Given the description of an element on the screen output the (x, y) to click on. 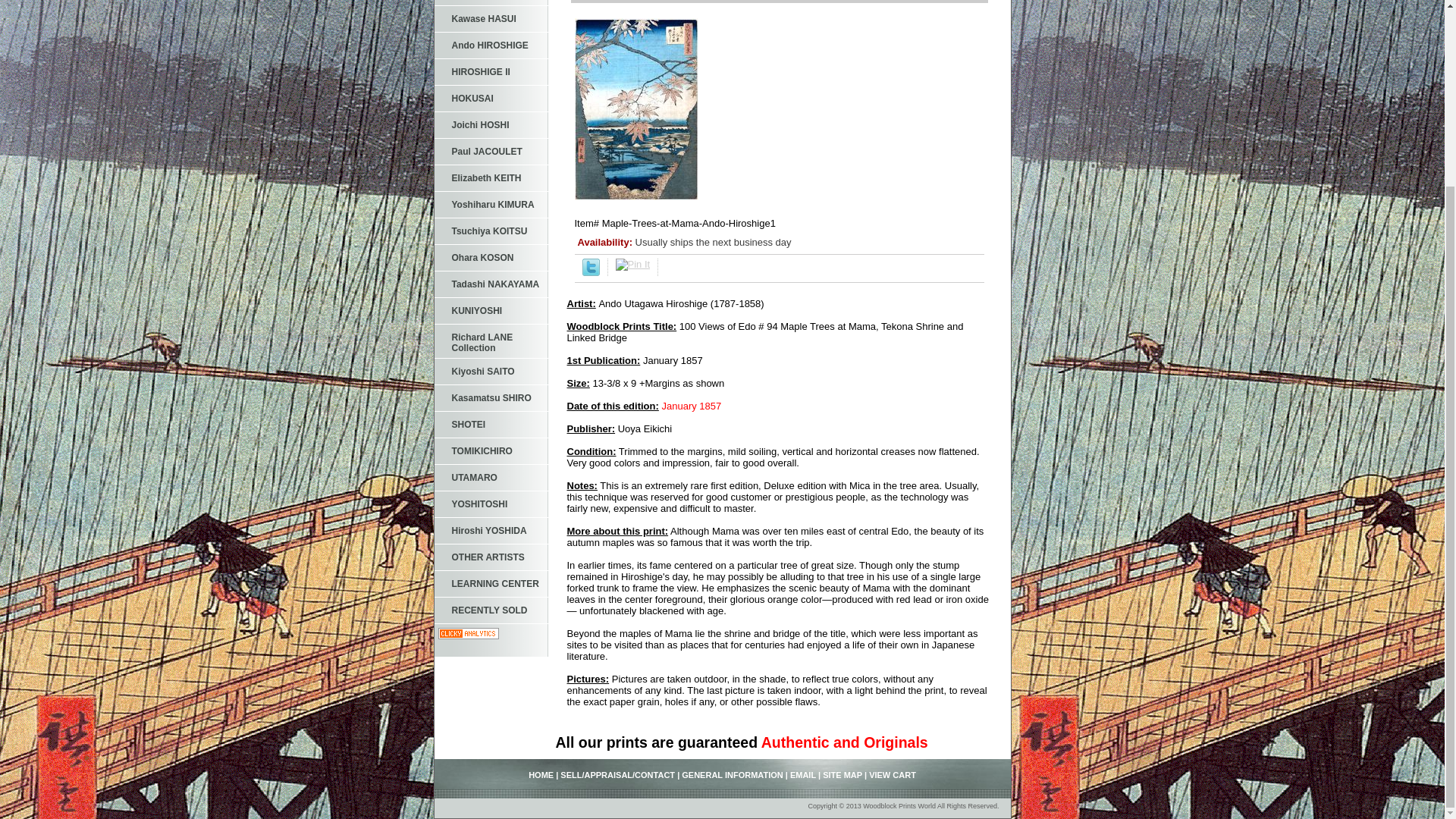
Kawase HASUI (490, 18)
UTAMARO (490, 478)
Charles BARTLETT (490, 2)
YOSHITOSHI (490, 504)
Elizabeth KEITH (490, 178)
Hiroshi YOSHIDA (490, 530)
Tadashi NAKAYAMA (490, 284)
Tsuchiya KOITSU (490, 231)
TOMIKICHIRO (490, 451)
Joichi HOSHI (490, 125)
Richard LANE Collection (490, 341)
Kawase HASUI (490, 18)
Tadashi NAKAYAMA (490, 284)
Charles BARTLETT (490, 2)
Elizabeth KEITH (490, 178)
